Given the description of an element on the screen output the (x, y) to click on. 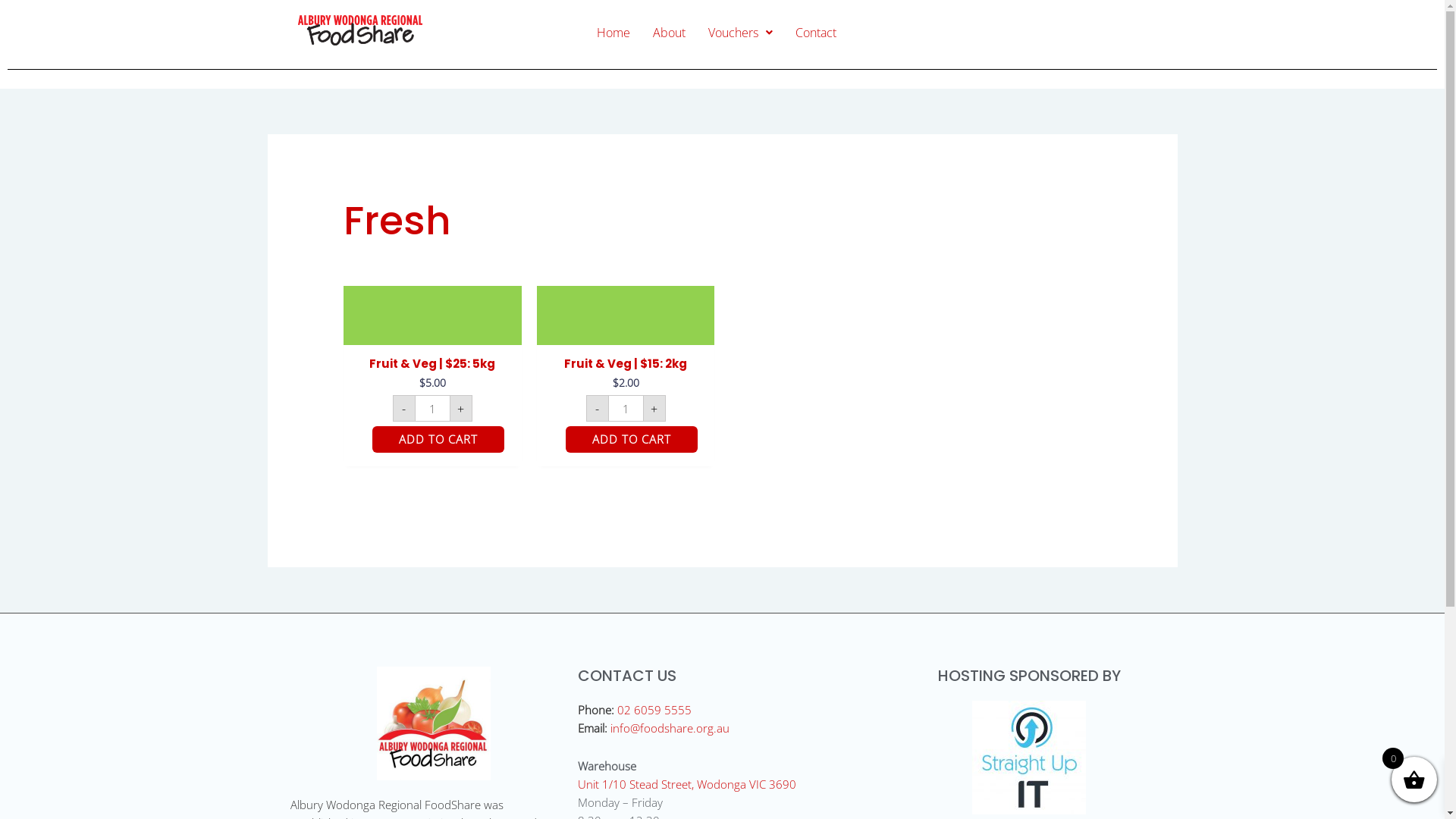
ADD TO CART Element type: text (631, 439)
Fruit & Veg | $15: 2kg Element type: text (625, 366)
About Element type: text (668, 32)
+ Element type: text (460, 408)
info@foodshare.org.au Element type: text (669, 727)
+ Element type: text (654, 408)
Qty Element type: hover (625, 408)
Qty Element type: hover (432, 408)
Fruit & Veg | $25: 5kg Element type: text (432, 366)
- Element type: text (596, 408)
Unit 1/10 Stead Street, Wodonga VIC 3690 Element type: text (686, 783)
Vouchers Element type: text (740, 32)
02 6059 5555 Element type: text (654, 709)
Home Element type: text (613, 32)
Contact Element type: text (815, 32)
- Element type: text (403, 408)
ADD TO CART Element type: text (438, 439)
